Given the description of an element on the screen output the (x, y) to click on. 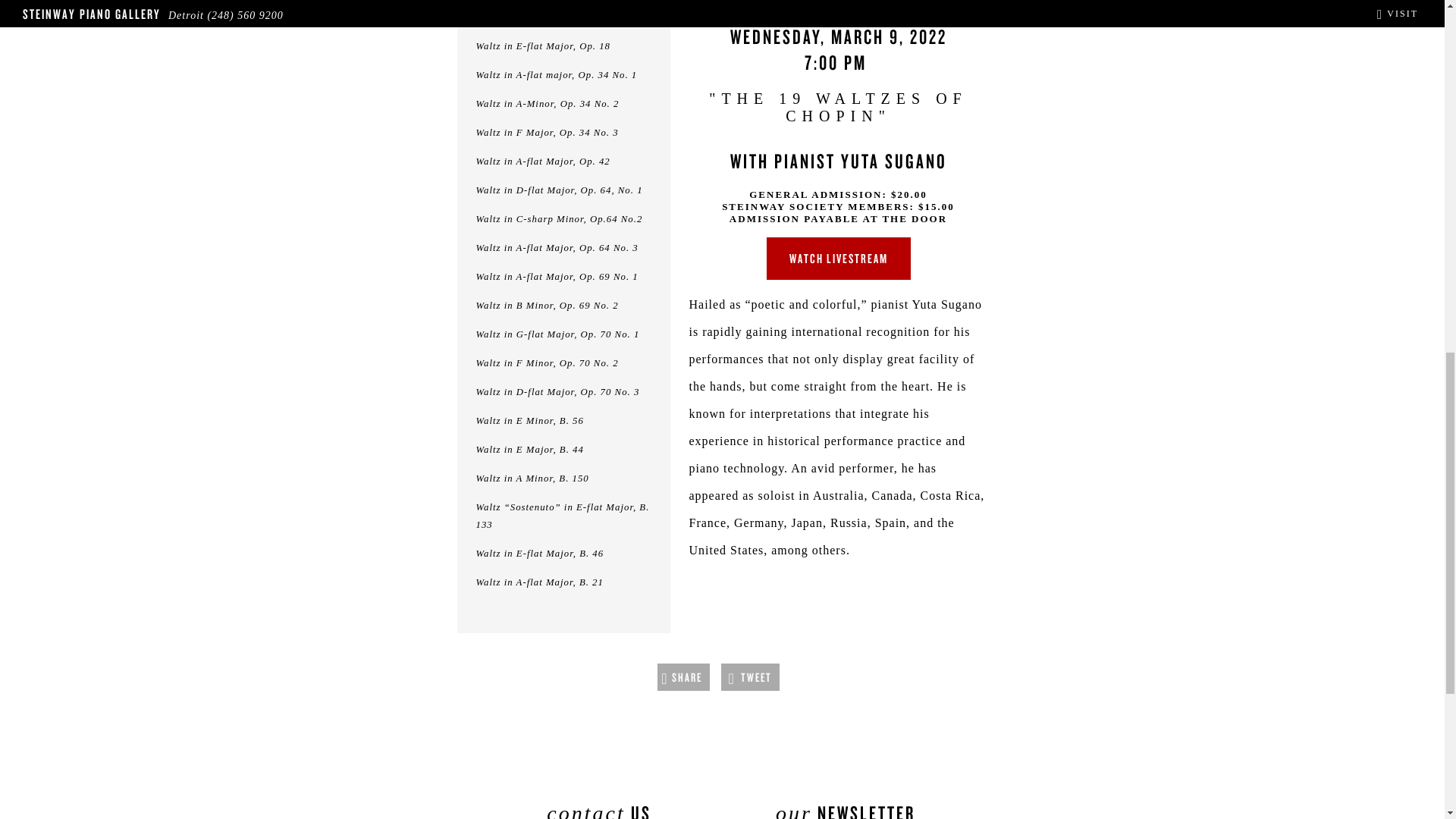
WATCH LIVESTREAM (837, 258)
